Given the description of an element on the screen output the (x, y) to click on. 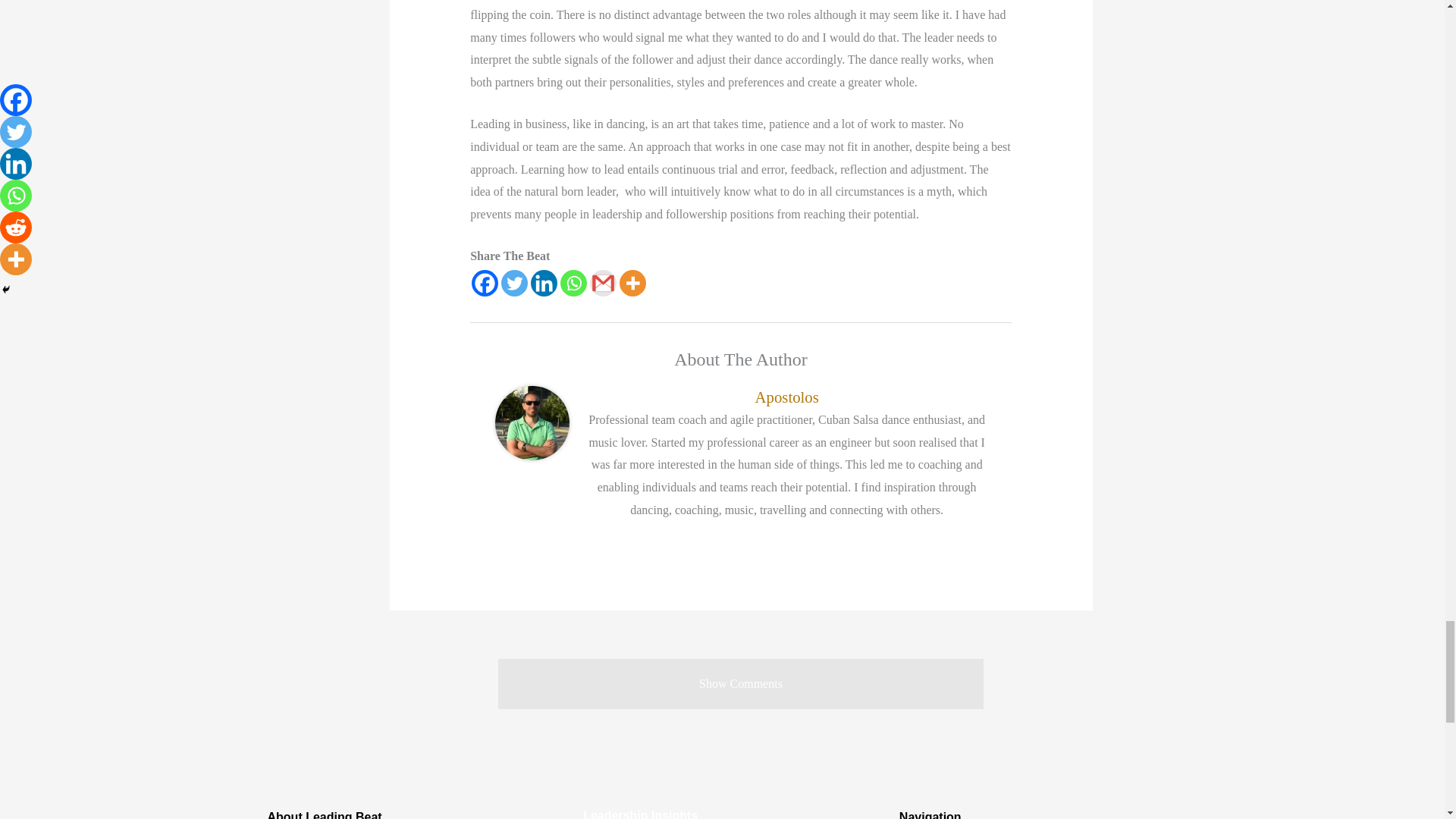
Whatsapp (573, 283)
Linkedin (544, 283)
Facebook (484, 283)
Twitter (513, 283)
More (633, 283)
Google Gmail (602, 283)
